Given the description of an element on the screen output the (x, y) to click on. 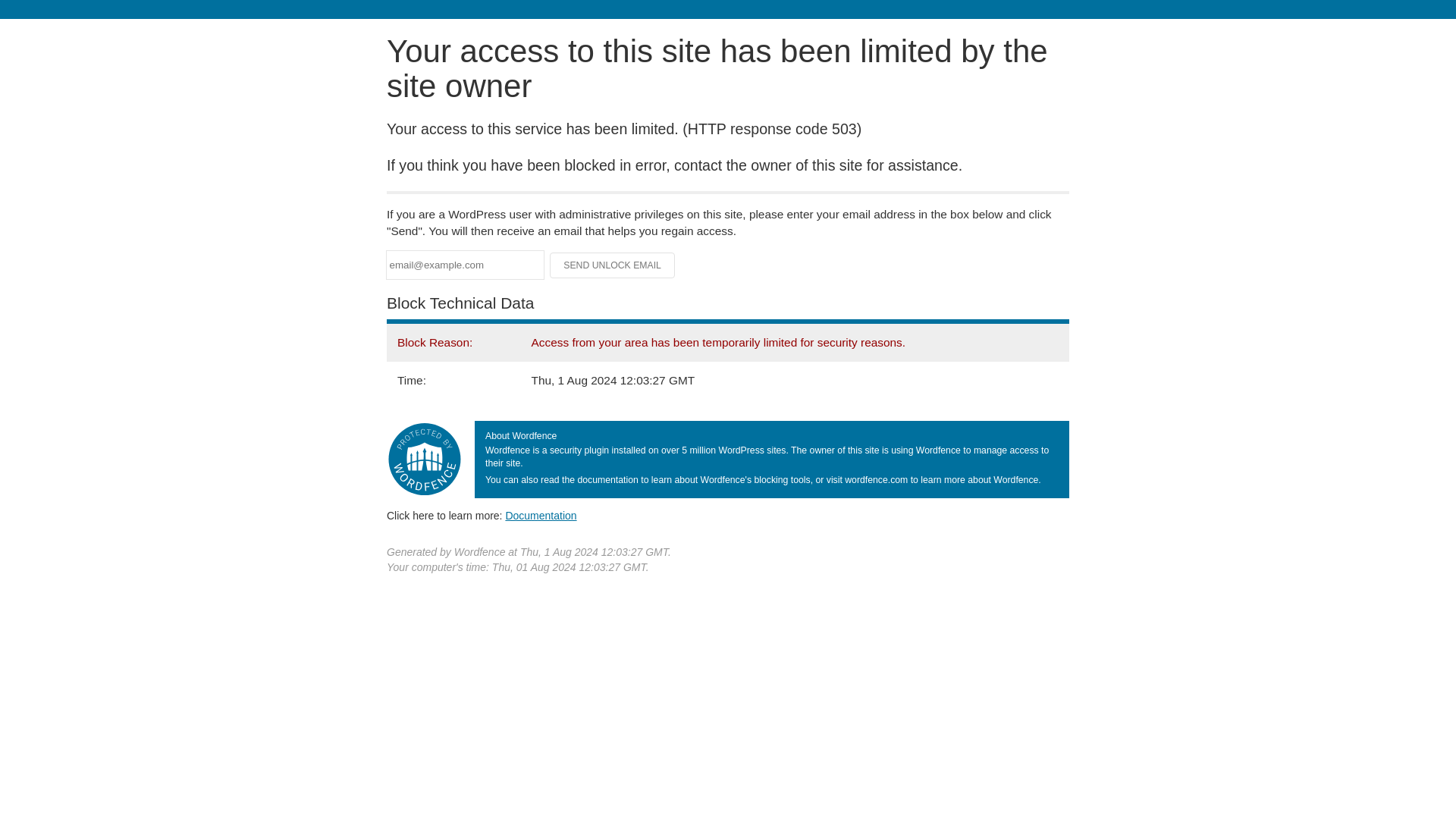
Documentation (540, 515)
Send Unlock Email (612, 265)
Send Unlock Email (612, 265)
